Given the description of an element on the screen output the (x, y) to click on. 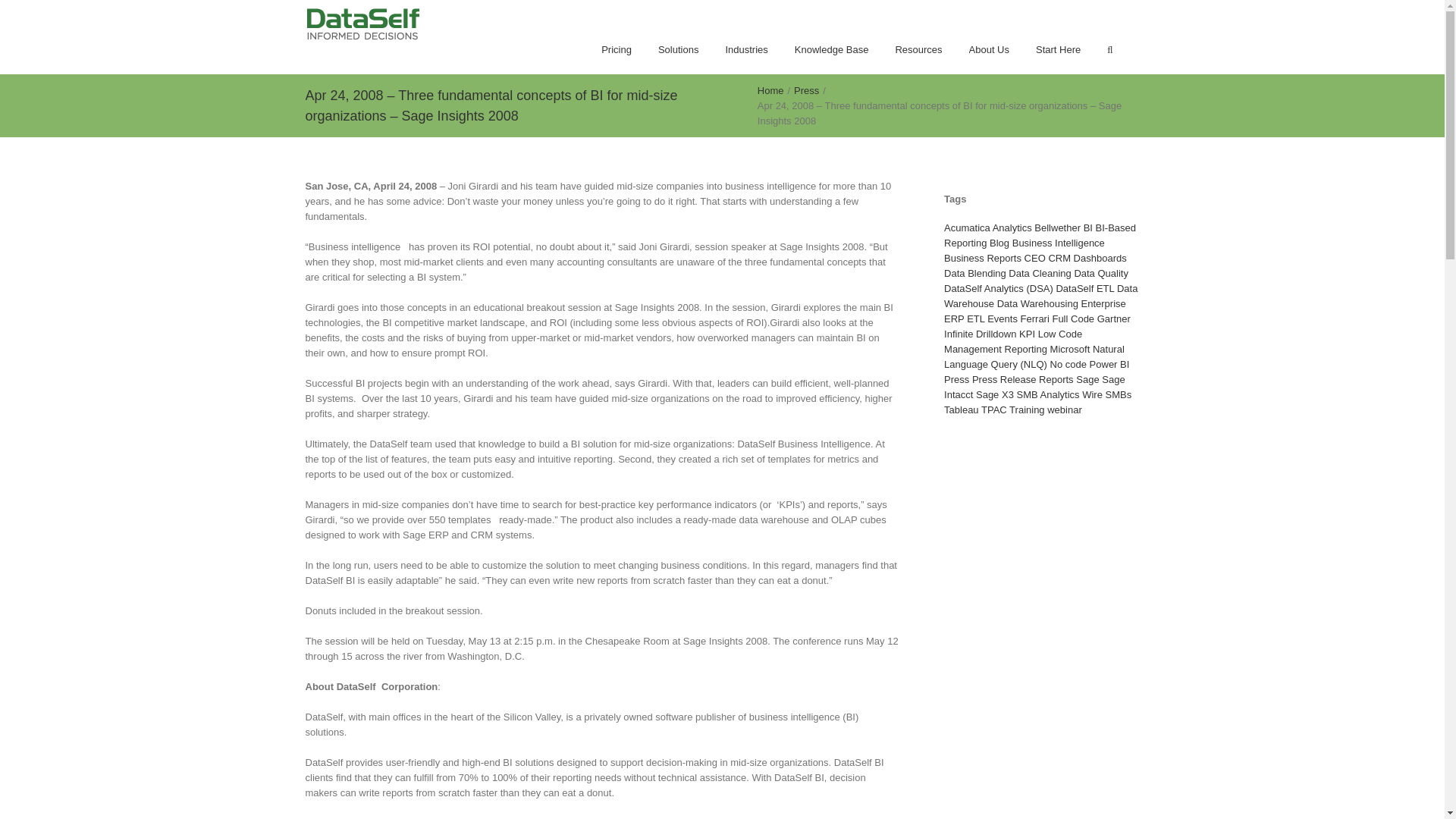
Resources (918, 49)
Knowledge Base (831, 49)
